Given the description of an element on the screen output the (x, y) to click on. 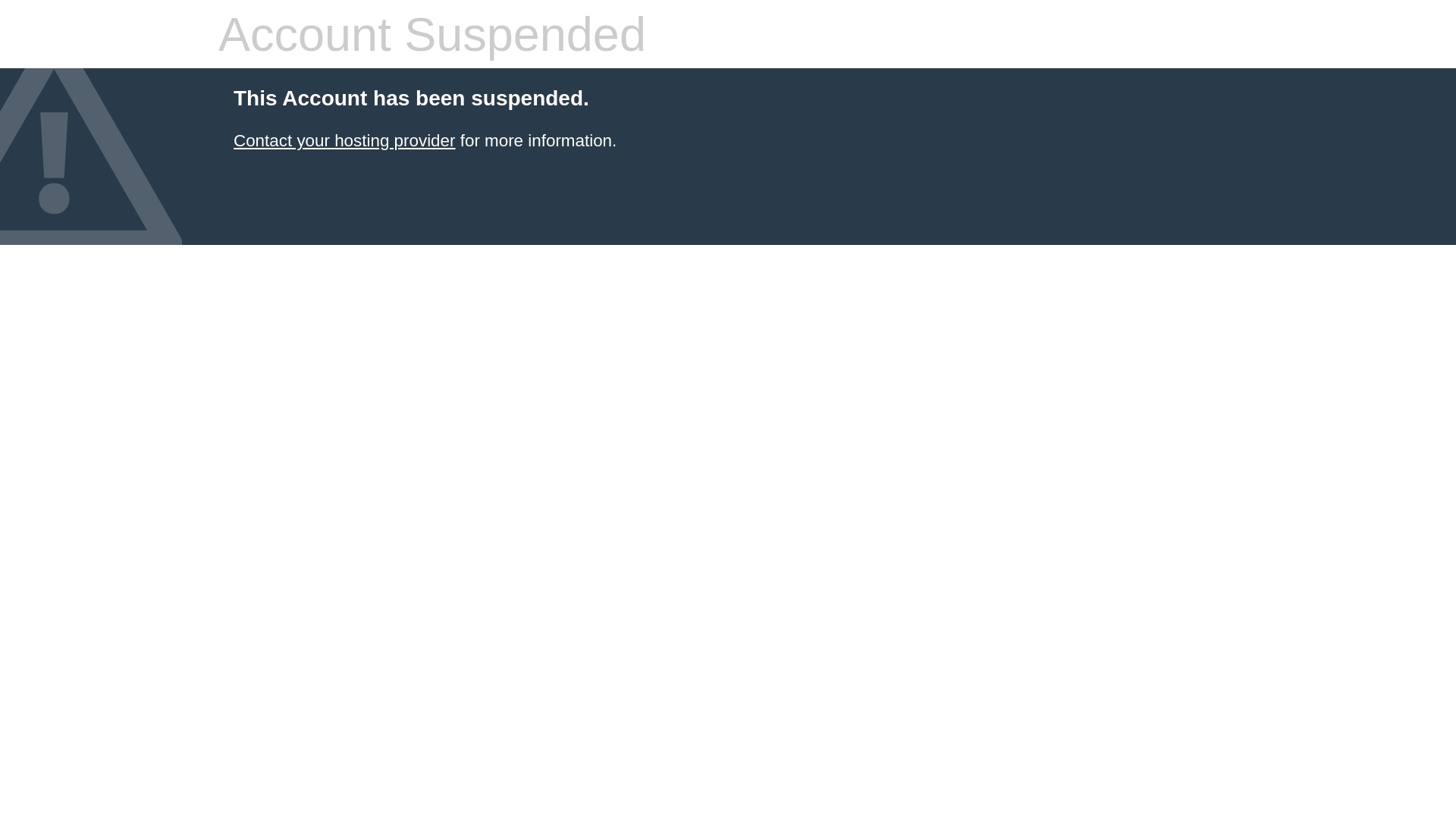
Contact your hosting provider Element type: text (344, 140)
